Given the description of an element on the screen output the (x, y) to click on. 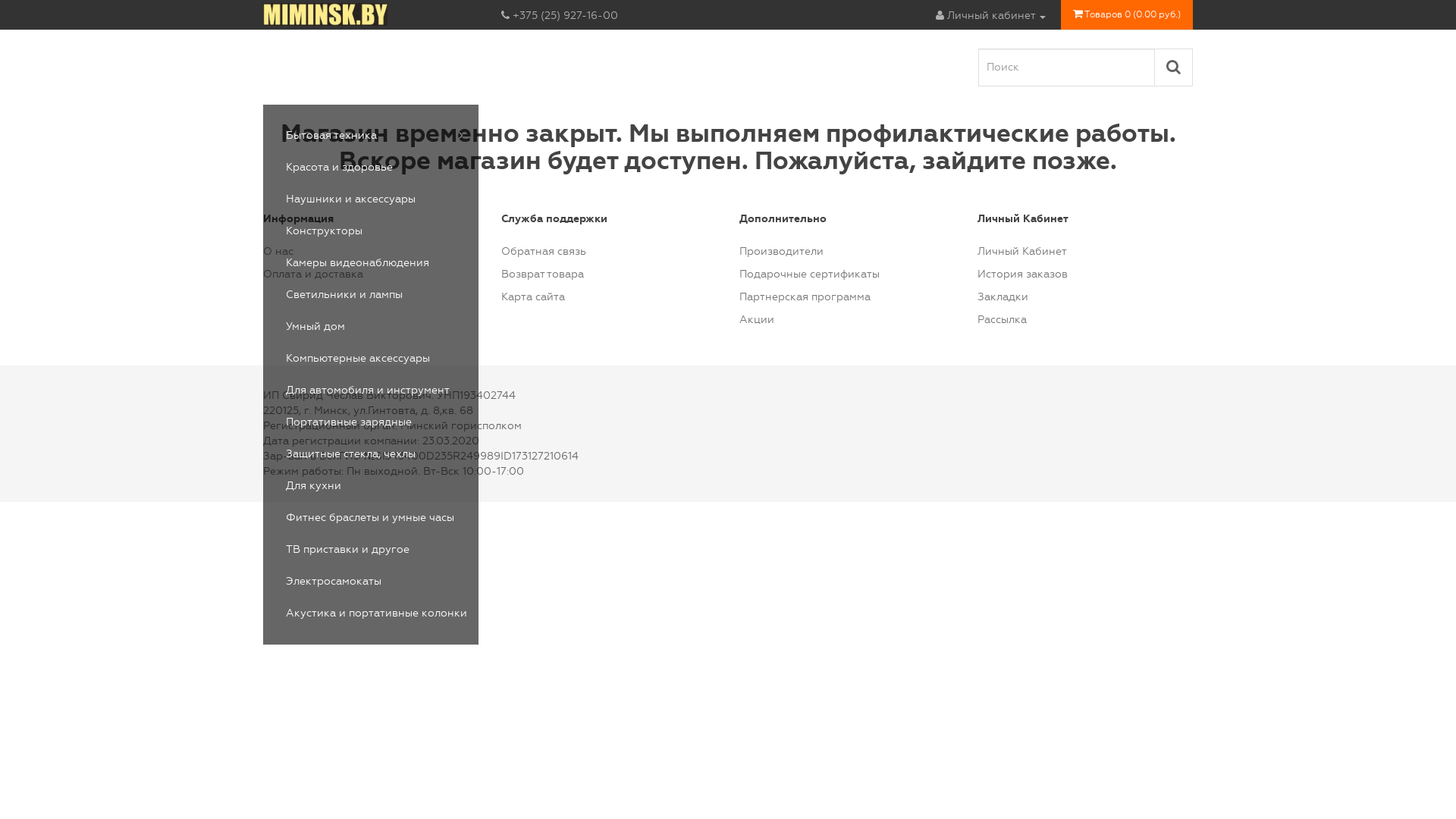
Miminsk.by Element type: hover (325, 14)
